Given the description of an element on the screen output the (x, y) to click on. 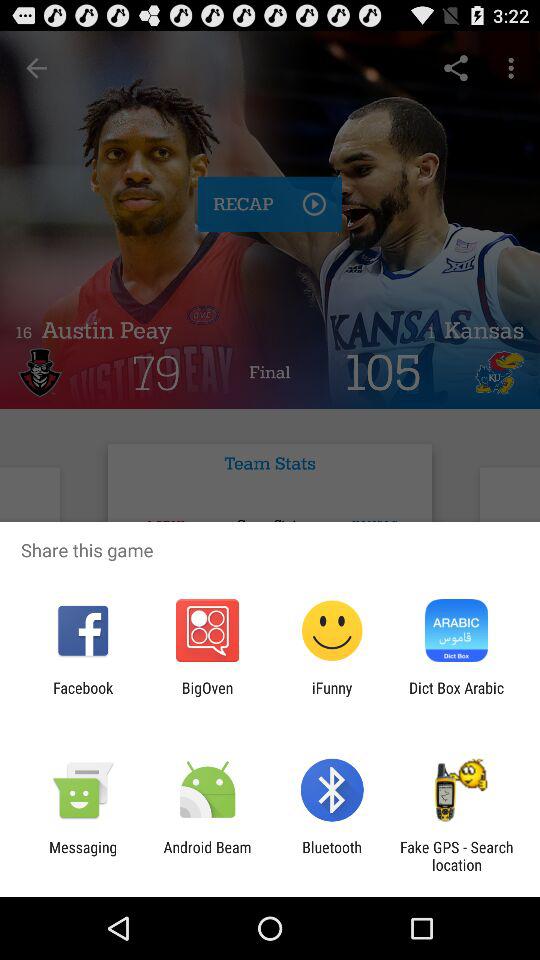
open the app next to facebook icon (207, 696)
